Given the description of an element on the screen output the (x, y) to click on. 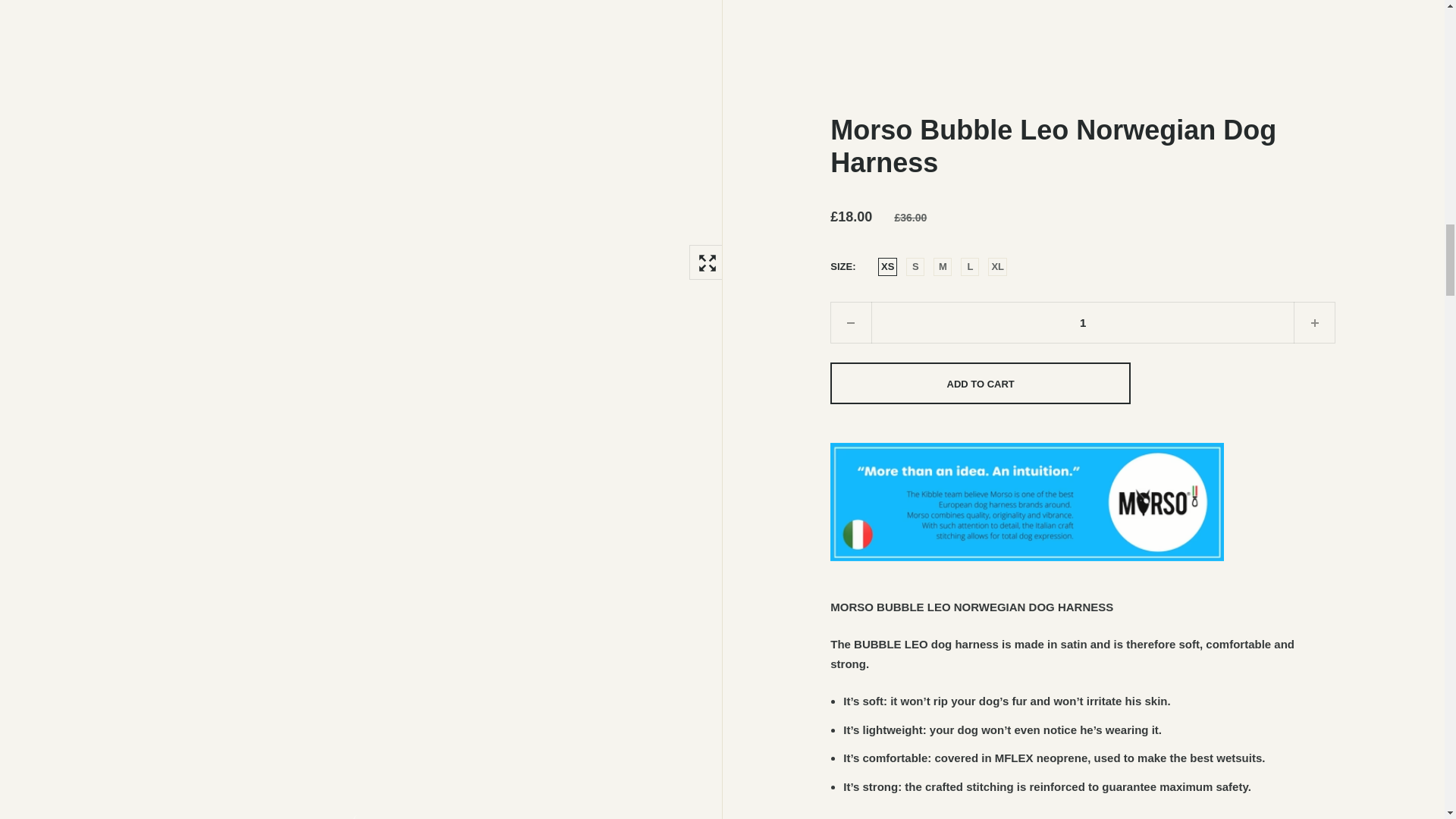
Zoom in (705, 262)
